Given the description of an element on the screen output the (x, y) to click on. 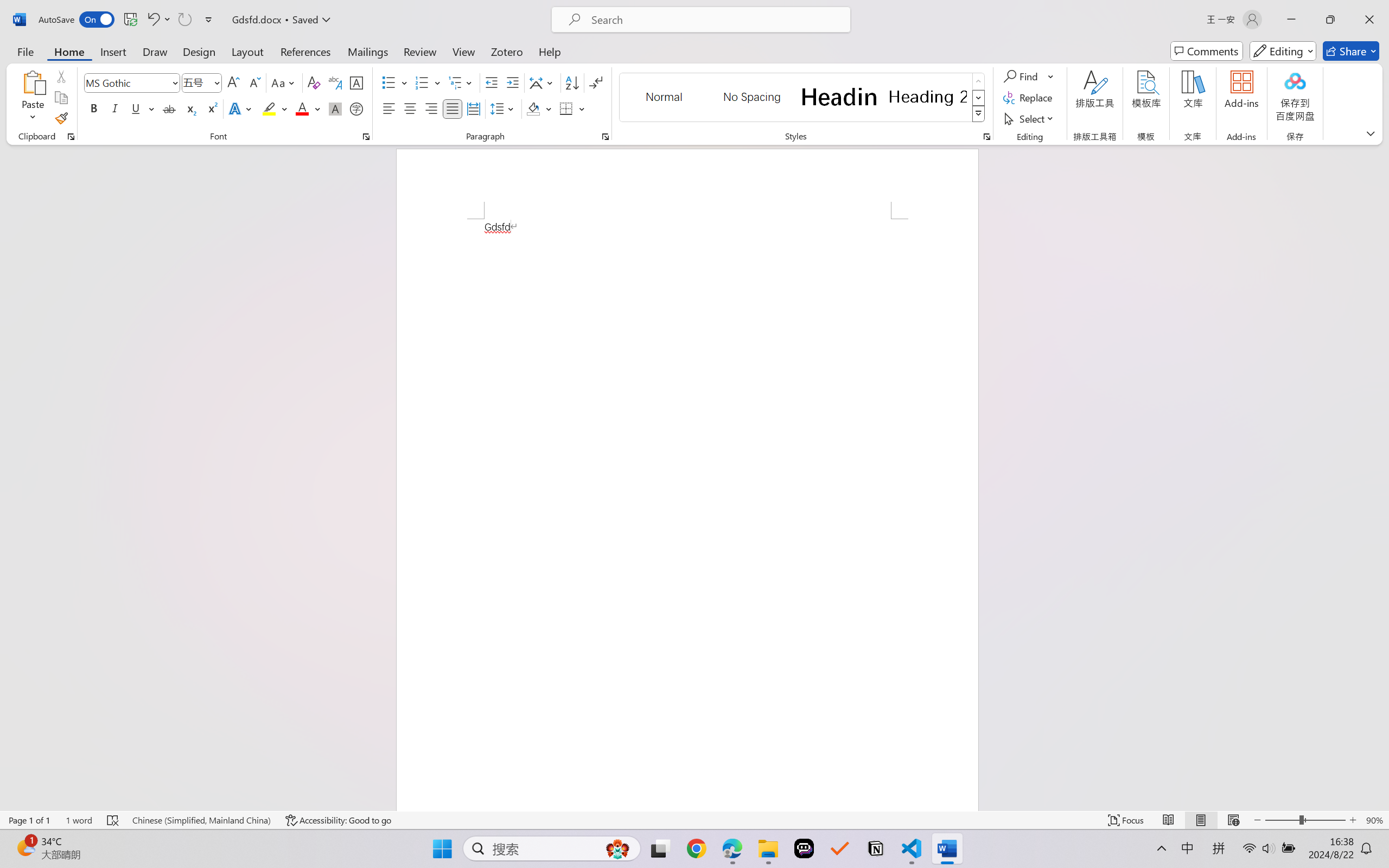
Line and Paragraph Spacing (503, 108)
